Given the description of an element on the screen output the (x, y) to click on. 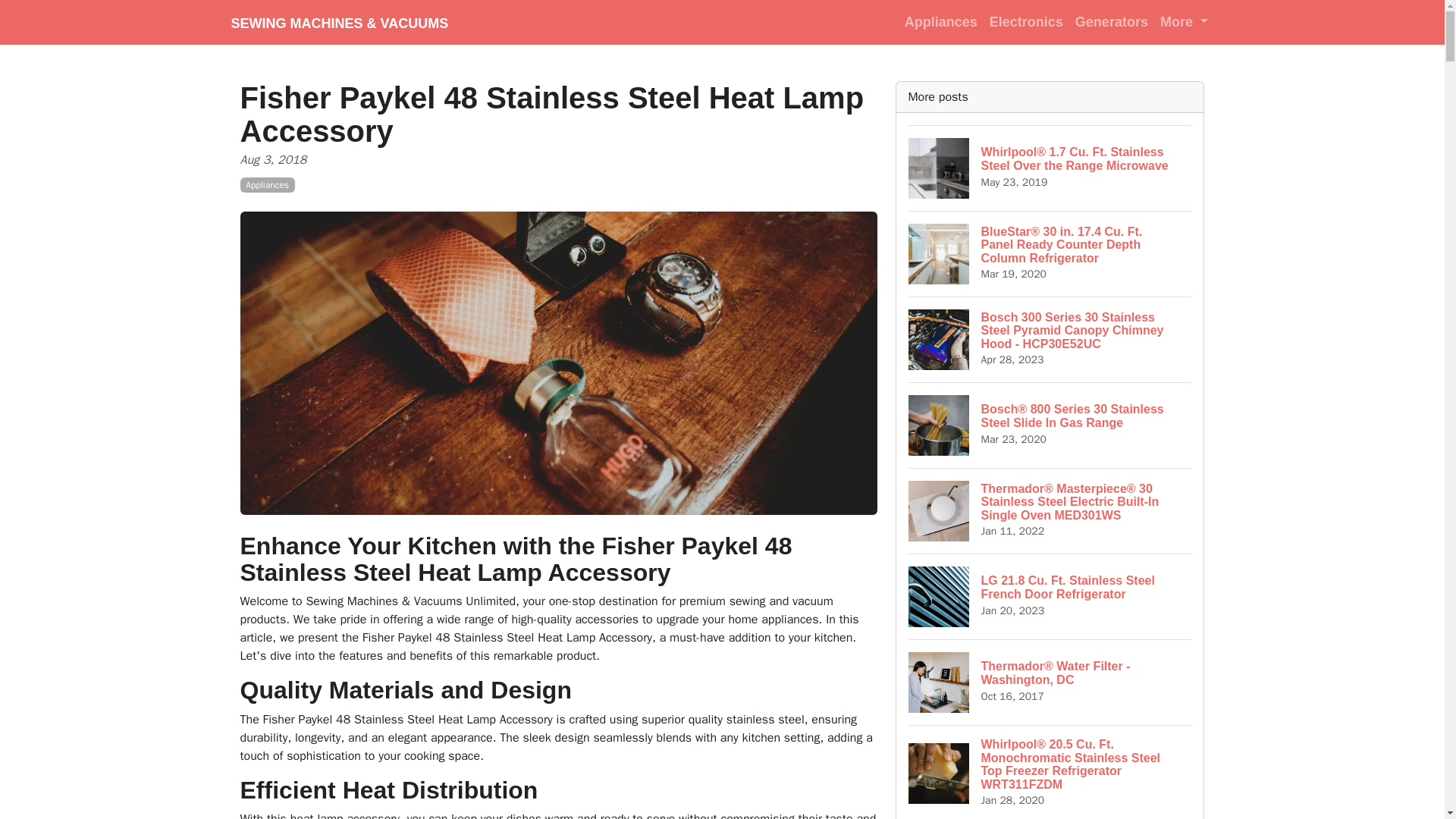
Electronics (1026, 21)
Appliances (941, 21)
More (1184, 21)
Appliances (267, 184)
Generators (1111, 21)
